Given the description of an element on the screen output the (x, y) to click on. 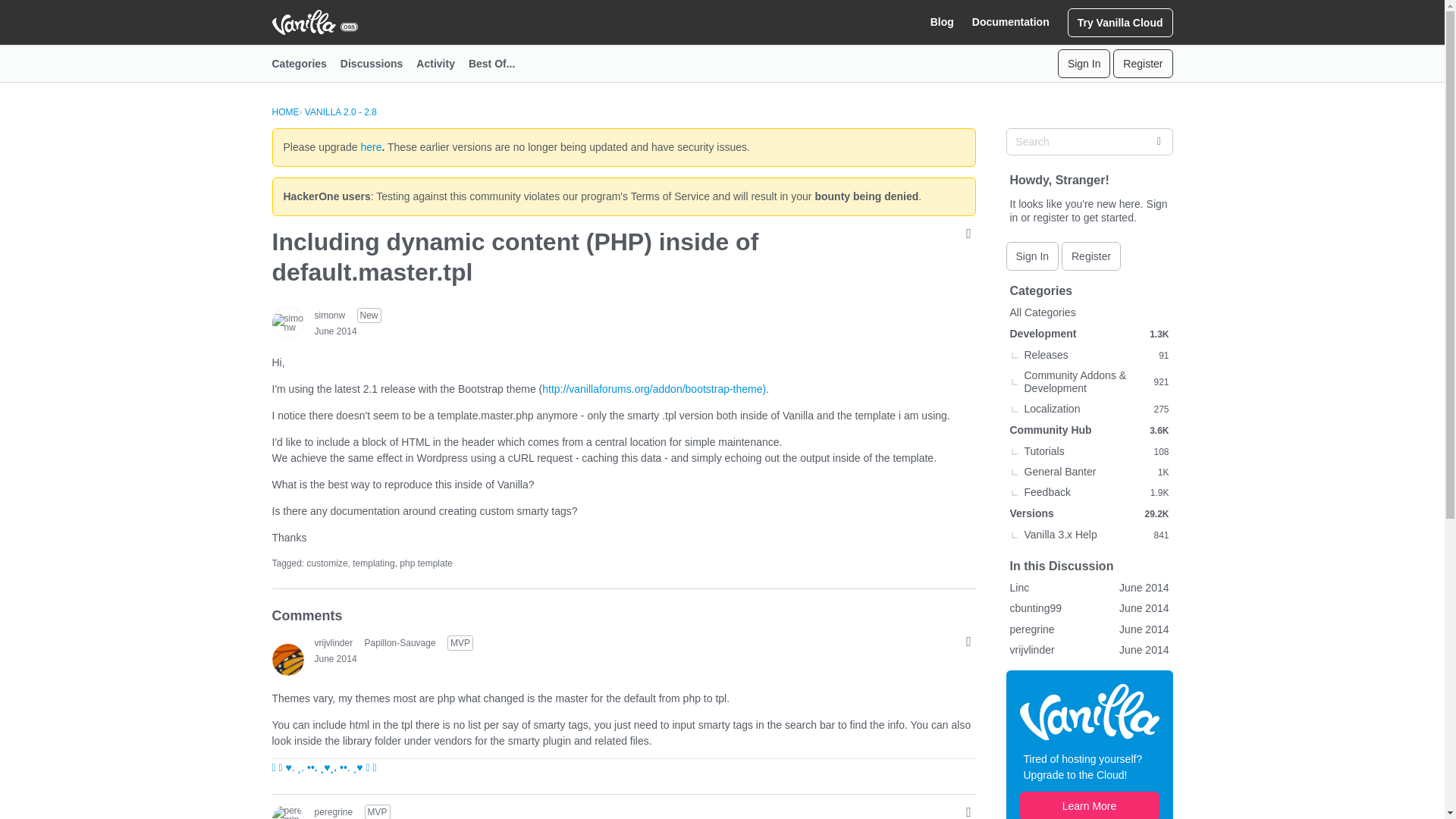
Sign In (1084, 63)
php template (424, 562)
Categories (304, 63)
vrijvlinder (286, 658)
My Addons (322, 767)
peregrine (286, 811)
here (370, 146)
Blog (942, 22)
Most Valuable Poster (377, 811)
New (368, 314)
June 26, 2014 1:19AM (335, 658)
HOME (284, 112)
Vanilla (1088, 711)
vrijvlinder (333, 642)
Best Of... (498, 63)
